Given the description of an element on the screen output the (x, y) to click on. 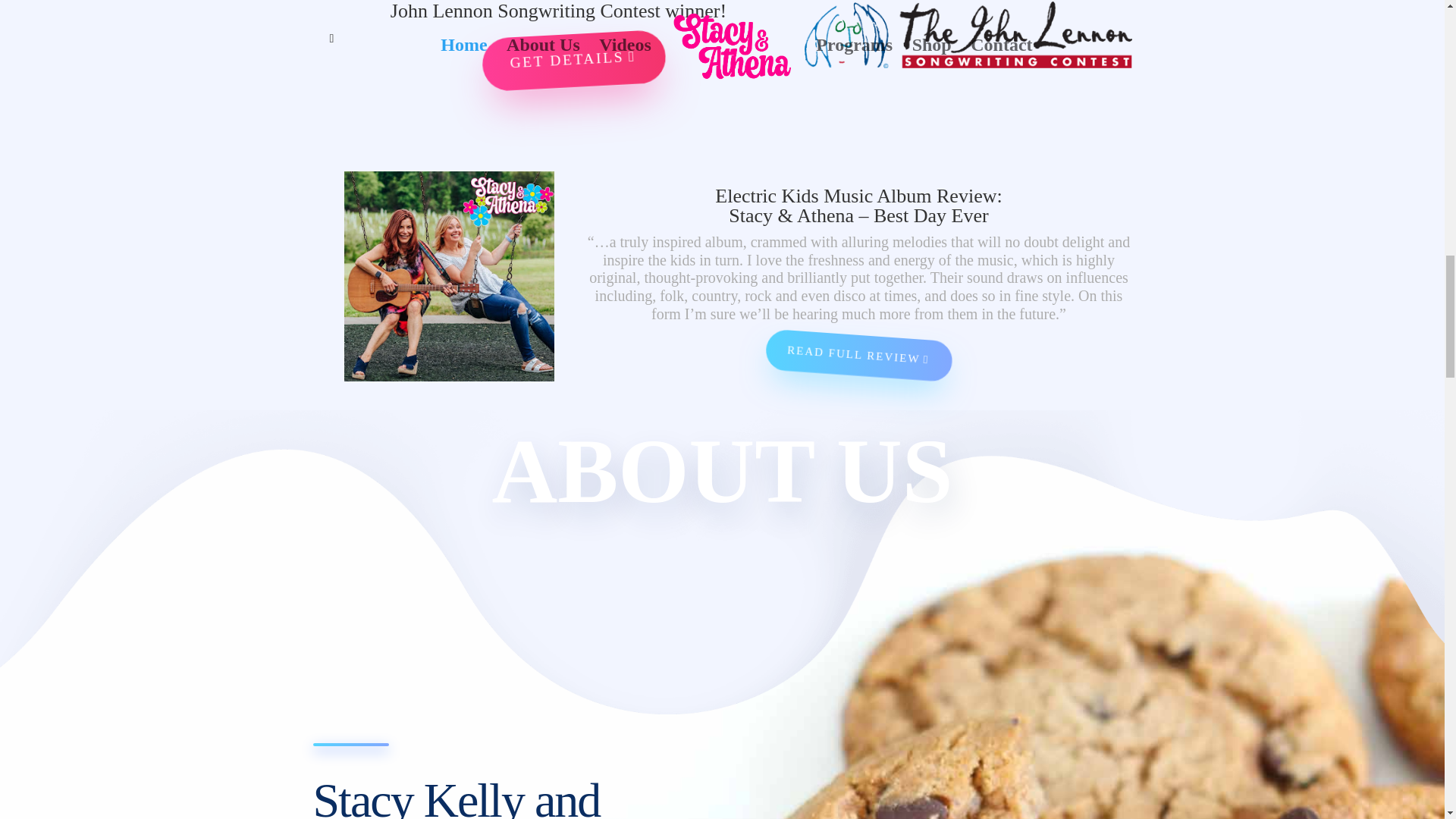
stacy-athena-ek (448, 276)
GET DETAILS (550, 49)
JL-logo (967, 34)
READ FULL REVIEW (857, 348)
